Given the description of an element on the screen output the (x, y) to click on. 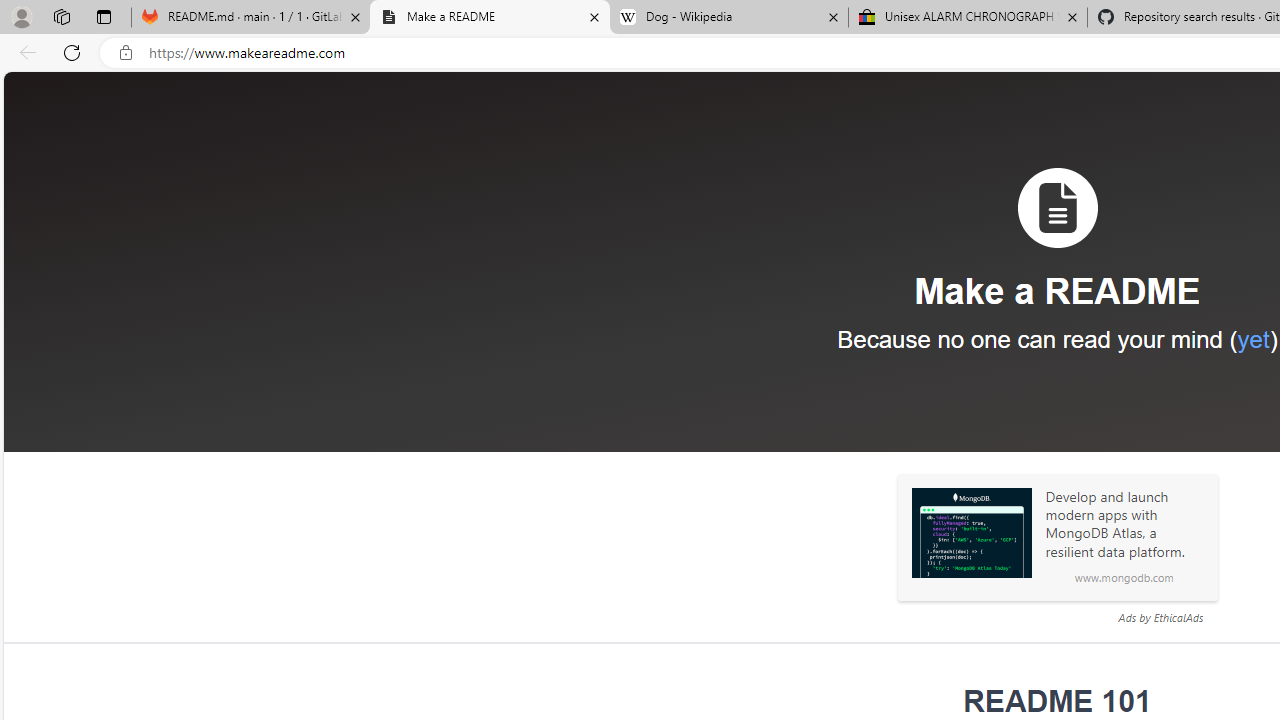
Make a README (490, 17)
Dog - Wikipedia (729, 17)
